Given the description of an element on the screen output the (x, y) to click on. 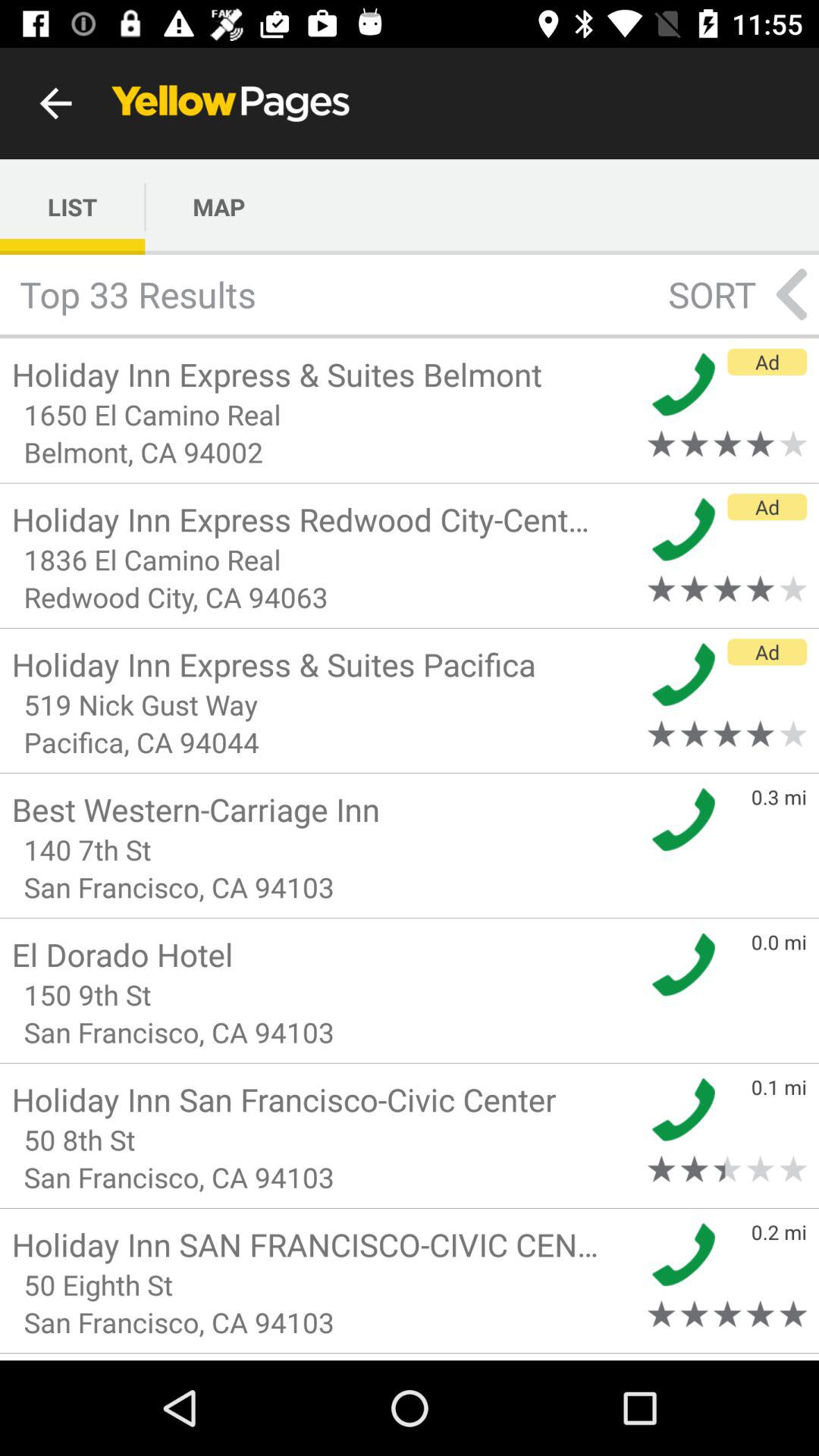
tap item below pacifica, ca 94044 (324, 808)
